Given the description of an element on the screen output the (x, y) to click on. 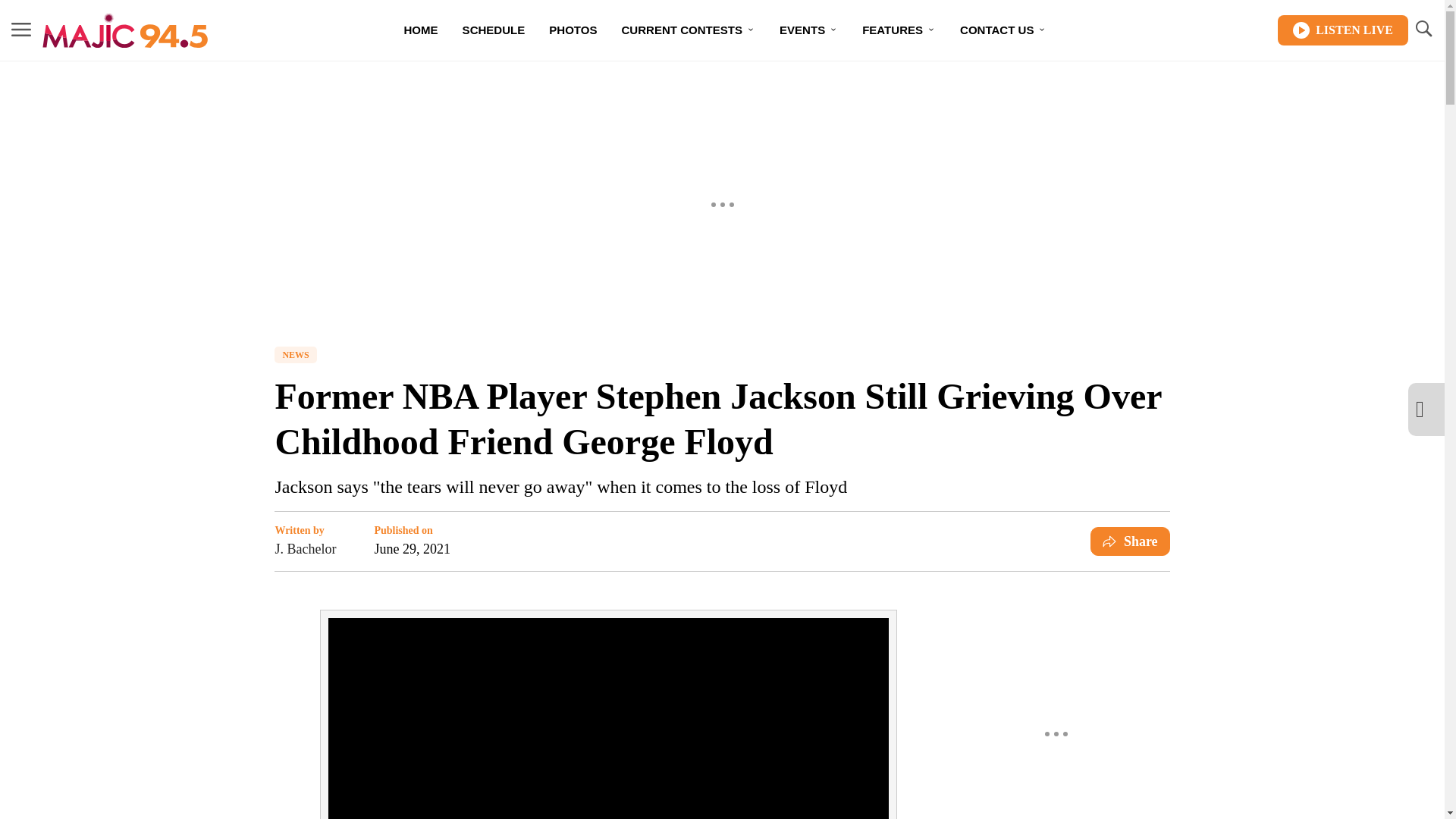
MENU (20, 30)
NEWS (295, 354)
FEATURES (898, 30)
CONTACT US (1002, 30)
Share (1130, 541)
SCHEDULE (493, 30)
TOGGLE SEARCH (1422, 28)
HOME (420, 30)
LISTEN LIVE (1342, 30)
MENU (20, 29)
